Given the description of an element on the screen output the (x, y) to click on. 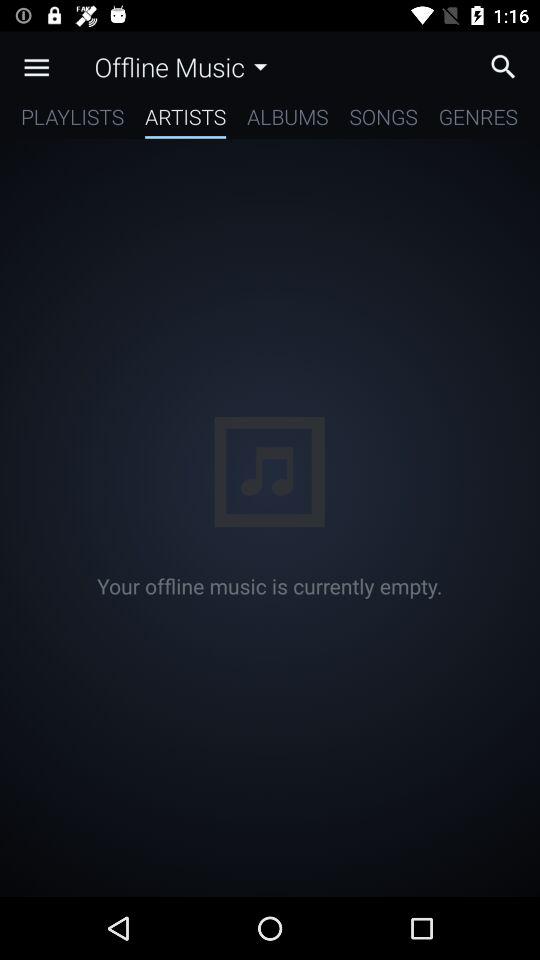
turn on item below offline music item (185, 120)
